Given the description of an element on the screen output the (x, y) to click on. 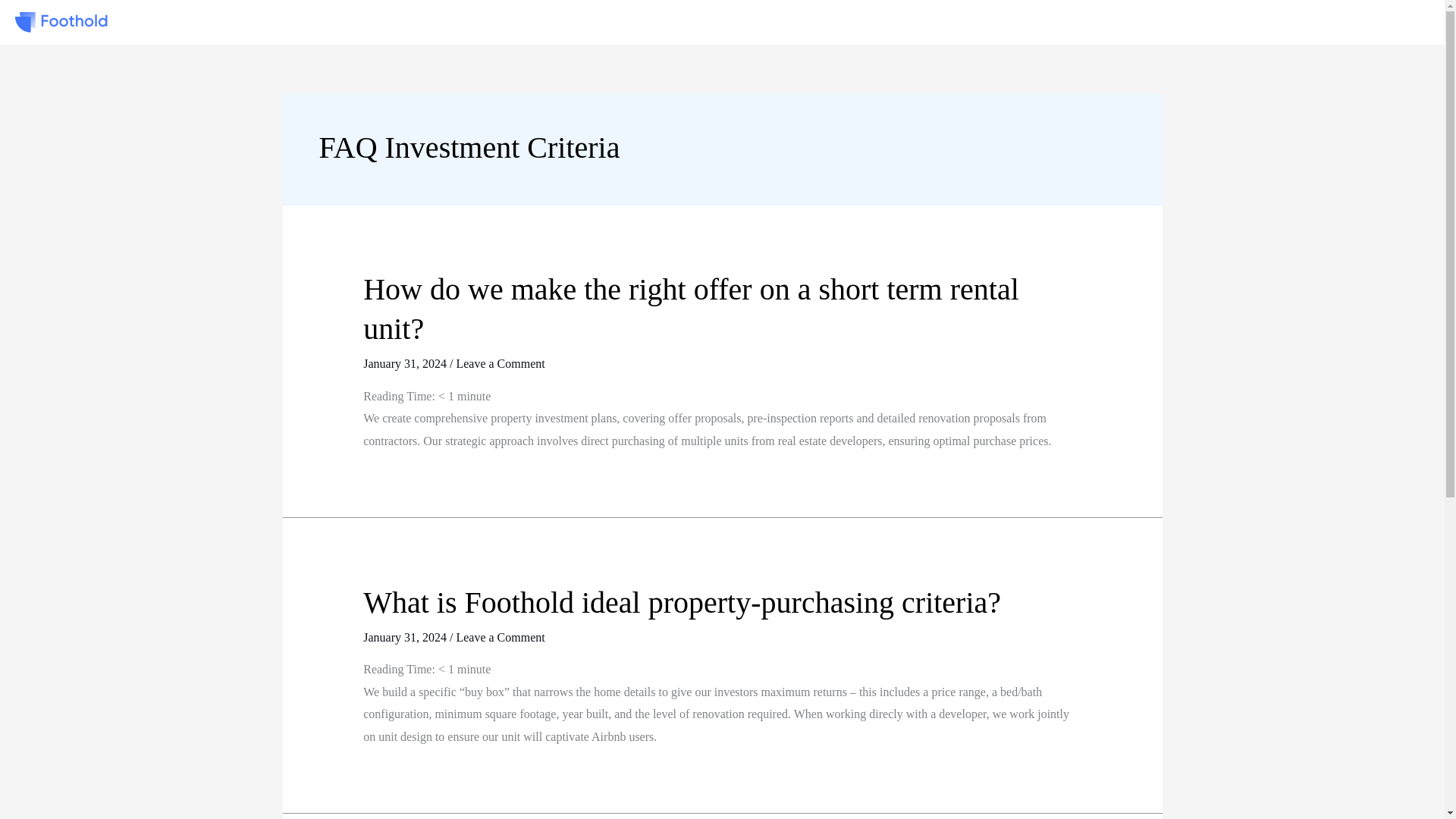
How do we make the right offer on a short term rental unit? (690, 308)
Leave a Comment (499, 363)
What is Foothold ideal property-purchasing criteria? (681, 602)
Leave a Comment (499, 636)
